Given the description of an element on the screen output the (x, y) to click on. 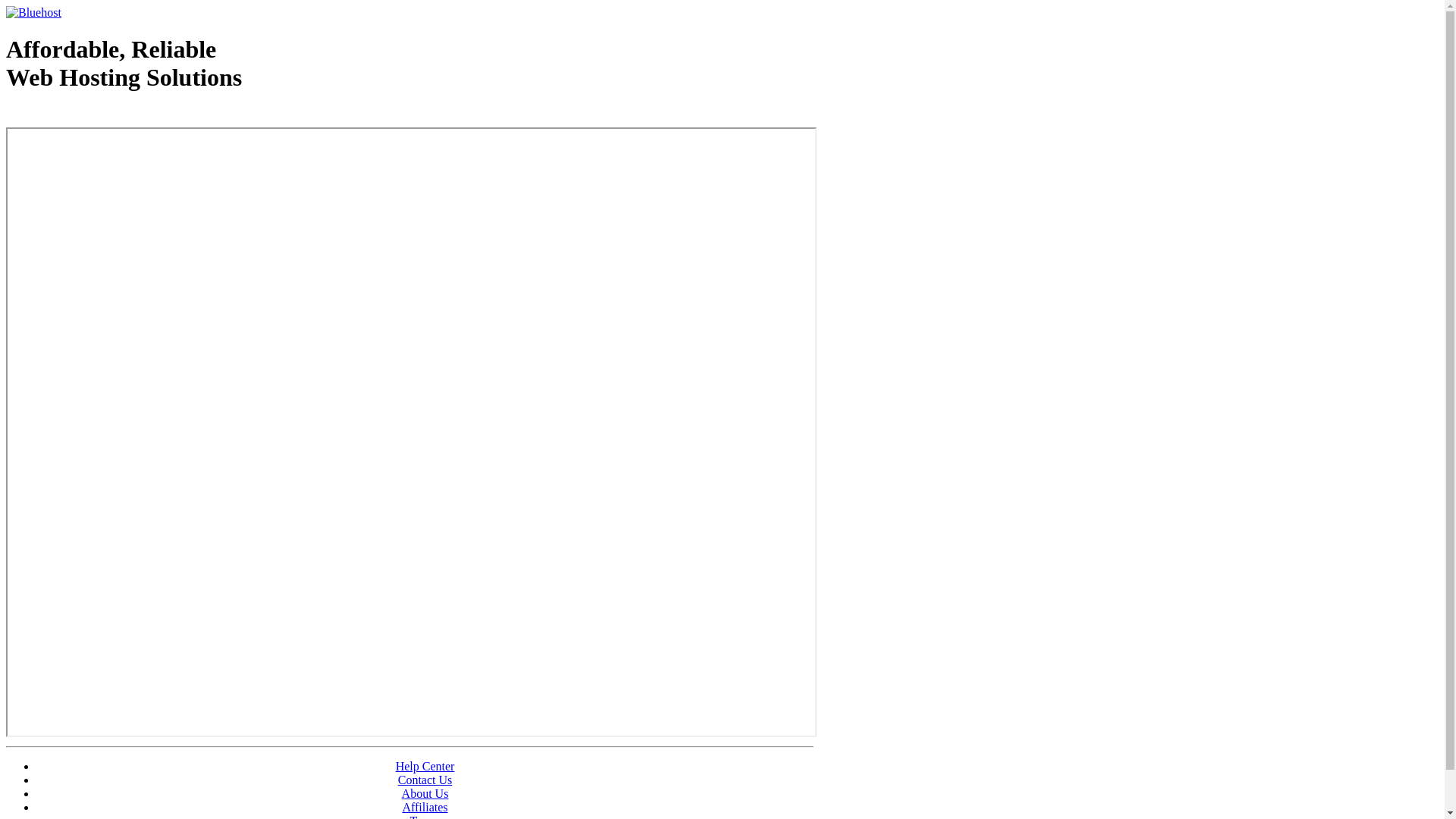
Affiliates Element type: text (424, 806)
Contact Us Element type: text (425, 779)
Help Center Element type: text (425, 765)
Web Hosting - courtesy of www.bluehost.com Element type: text (94, 115)
About Us Element type: text (424, 793)
